Given the description of an element on the screen output the (x, y) to click on. 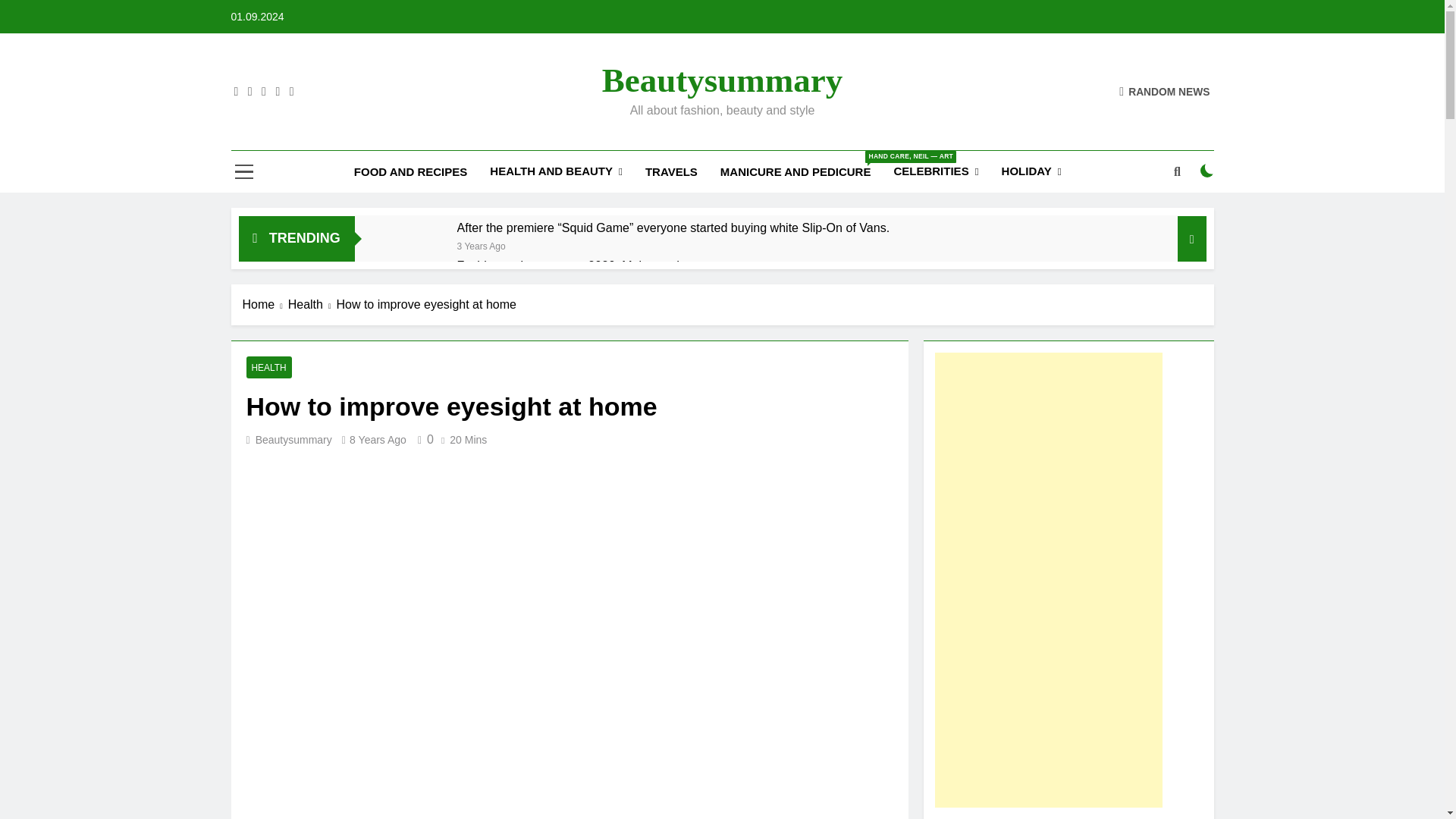
HOLIDAY (1031, 171)
on (1206, 170)
FOOD AND RECIPES (410, 171)
RANDOM NEWS (1164, 91)
Fashion spring-summer 2020. Main trends (413, 285)
TRAVELS (671, 171)
Fashion spring-summer 2020. Main trends (571, 265)
CELEBRITIES (936, 171)
Beautysummary (722, 80)
HEALTH AND BEAUTY (556, 171)
